Given the description of an element on the screen output the (x, y) to click on. 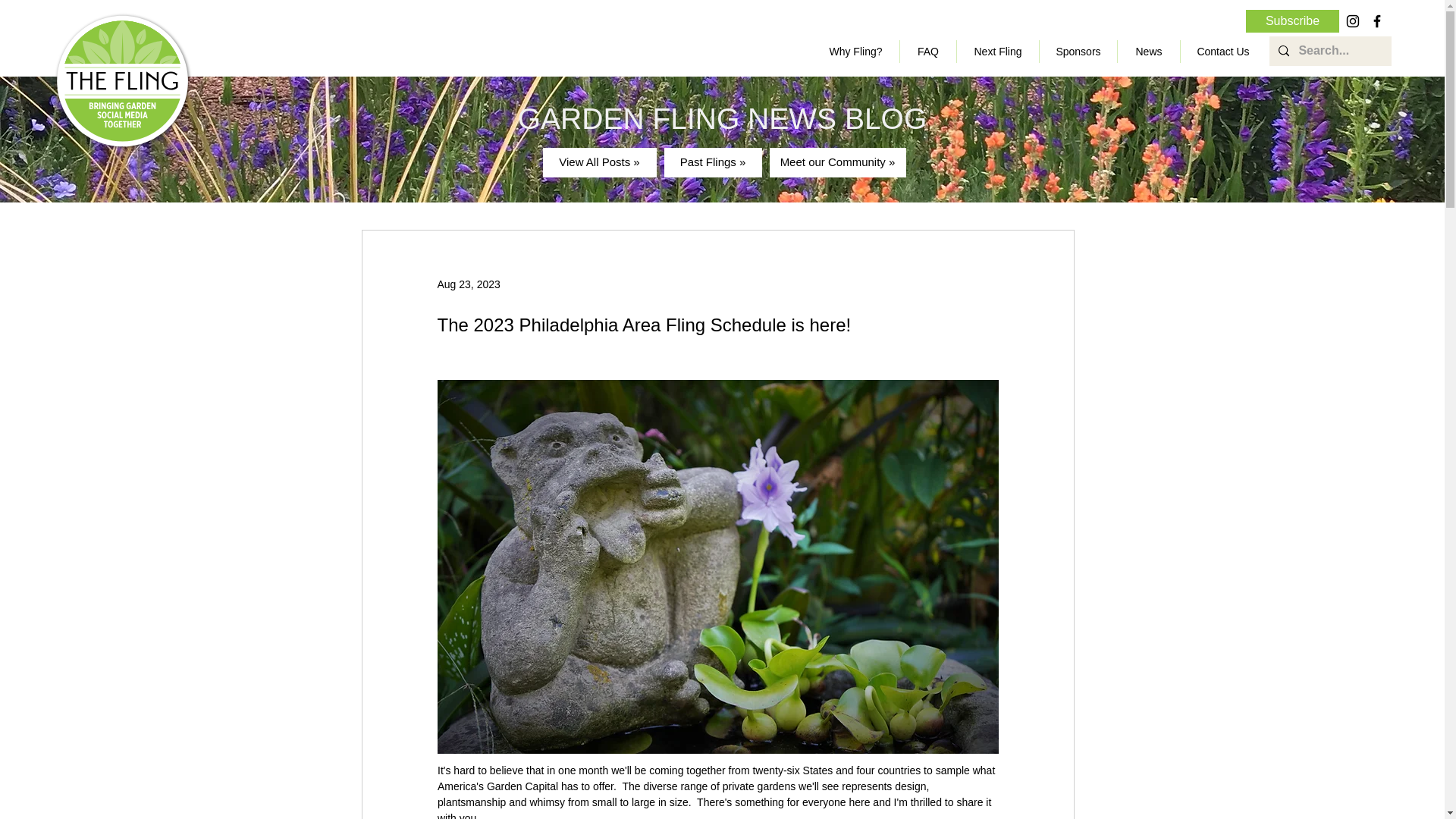
Contact Us (1222, 51)
Subscribe (1292, 20)
Aug 23, 2023 (467, 284)
Sponsors (1077, 51)
FAQ (927, 51)
News (1148, 51)
Why Fling? (855, 51)
Next Fling (997, 51)
GARDEN FLING NEWS BLOG (722, 118)
